Given the description of an element on the screen output the (x, y) to click on. 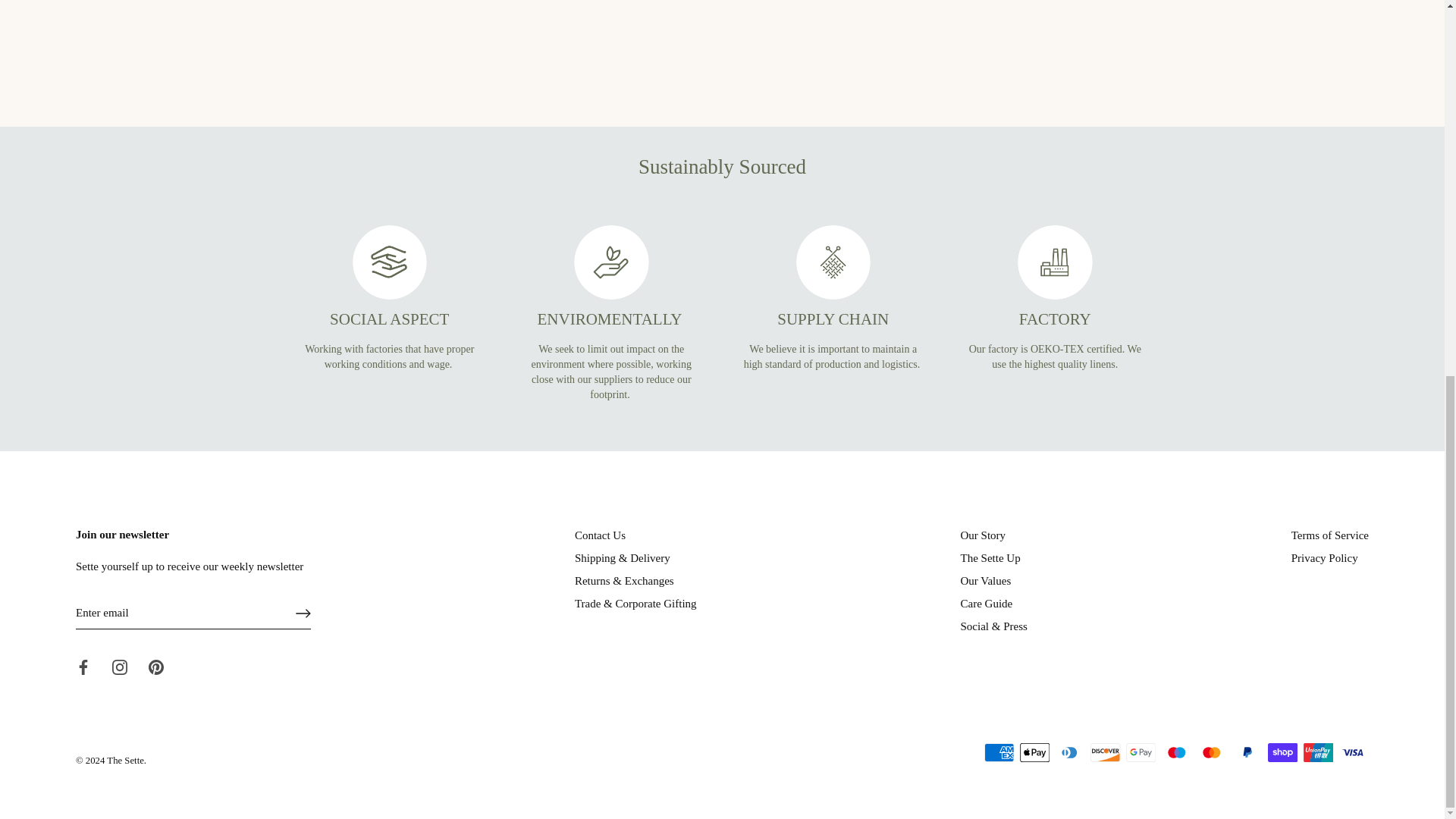
American Express (999, 752)
Pinterest (155, 667)
Visa (1353, 752)
Union Pay (1318, 752)
Google Pay (1140, 752)
Discover (1105, 752)
PayPal (1246, 752)
Diners Club (1069, 752)
RIGHT ARROW LONG (303, 613)
Mastercard (1210, 752)
